Given the description of an element on the screen output the (x, y) to click on. 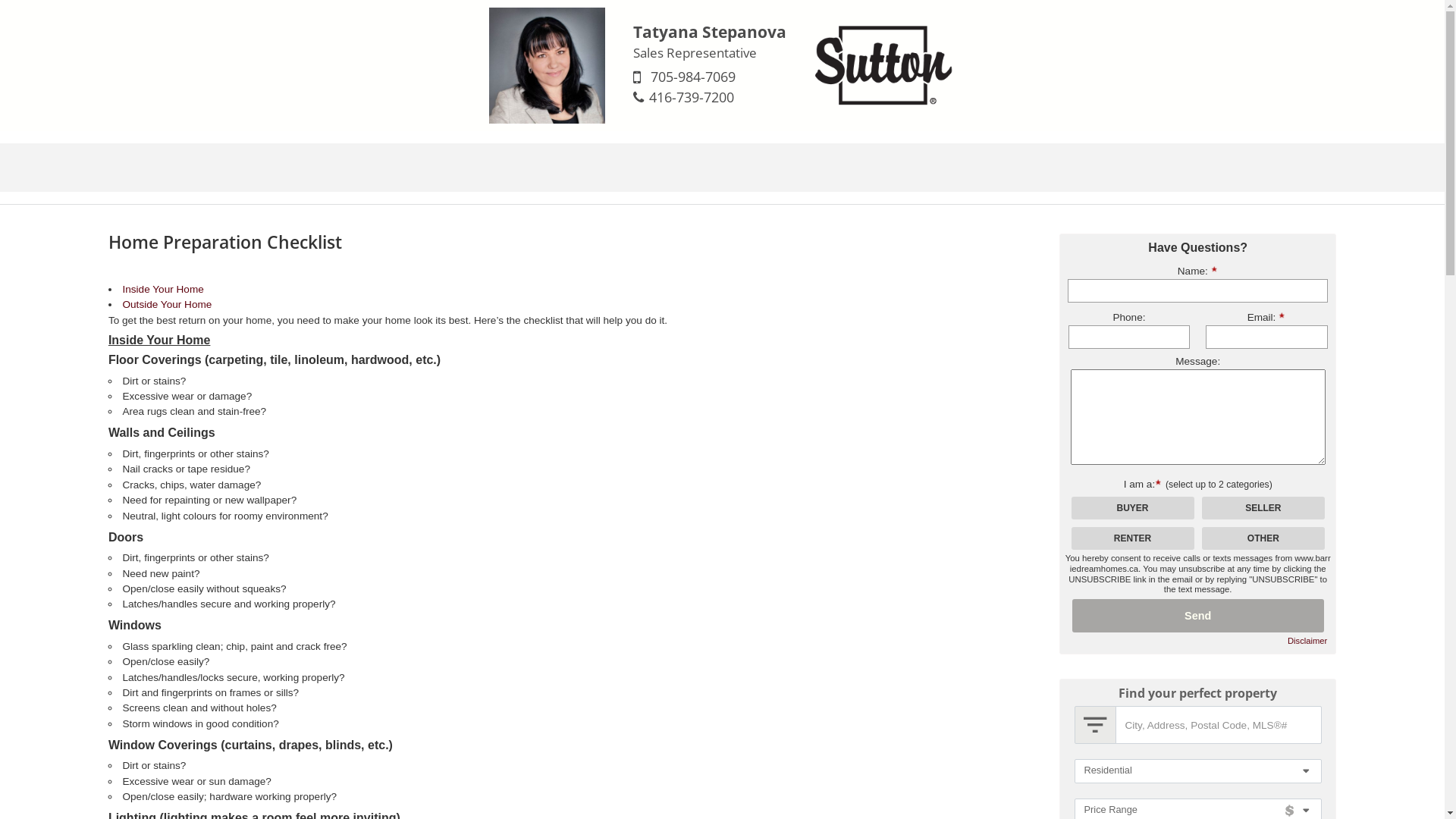
BUYER Element type: text (4, 4)
705-984-7069 Element type: text (692, 76)
Search by Element type: text (1094, 724)
416-739-7200 Element type: text (691, 96)
Outside Your Home Element type: text (166, 304)
Inside Your Home Element type: text (162, 288)
Send Element type: text (1198, 616)
Residential Element type: text (1197, 771)
Disclaimer Element type: text (1307, 640)
